Given the description of an element on the screen output the (x, y) to click on. 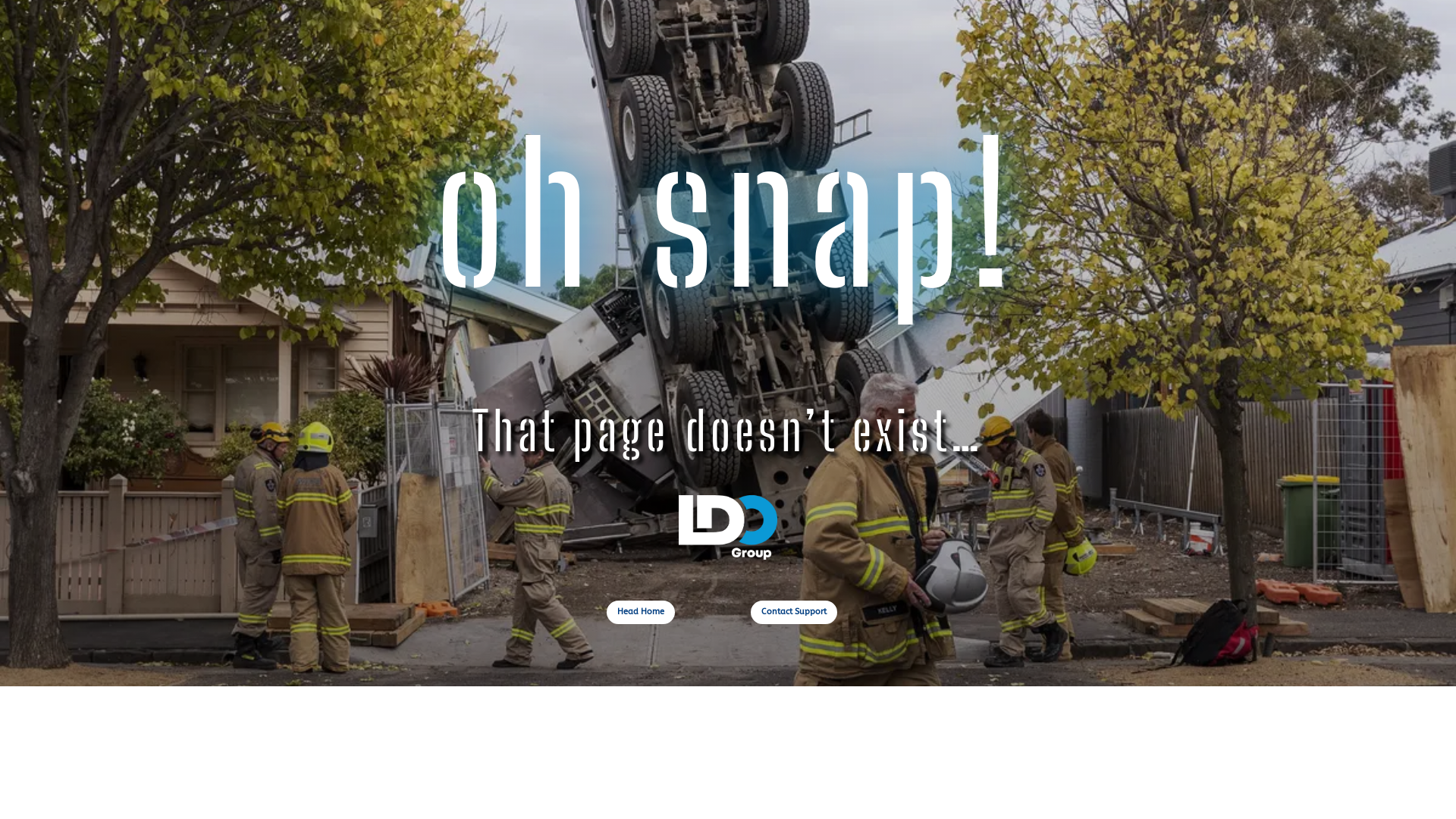
Head Home Element type: text (640, 612)
ldog_logo_hero_rev_spot.png Element type: hover (727, 526)
Contact Support Element type: text (793, 612)
